Given the description of an element on the screen output the (x, y) to click on. 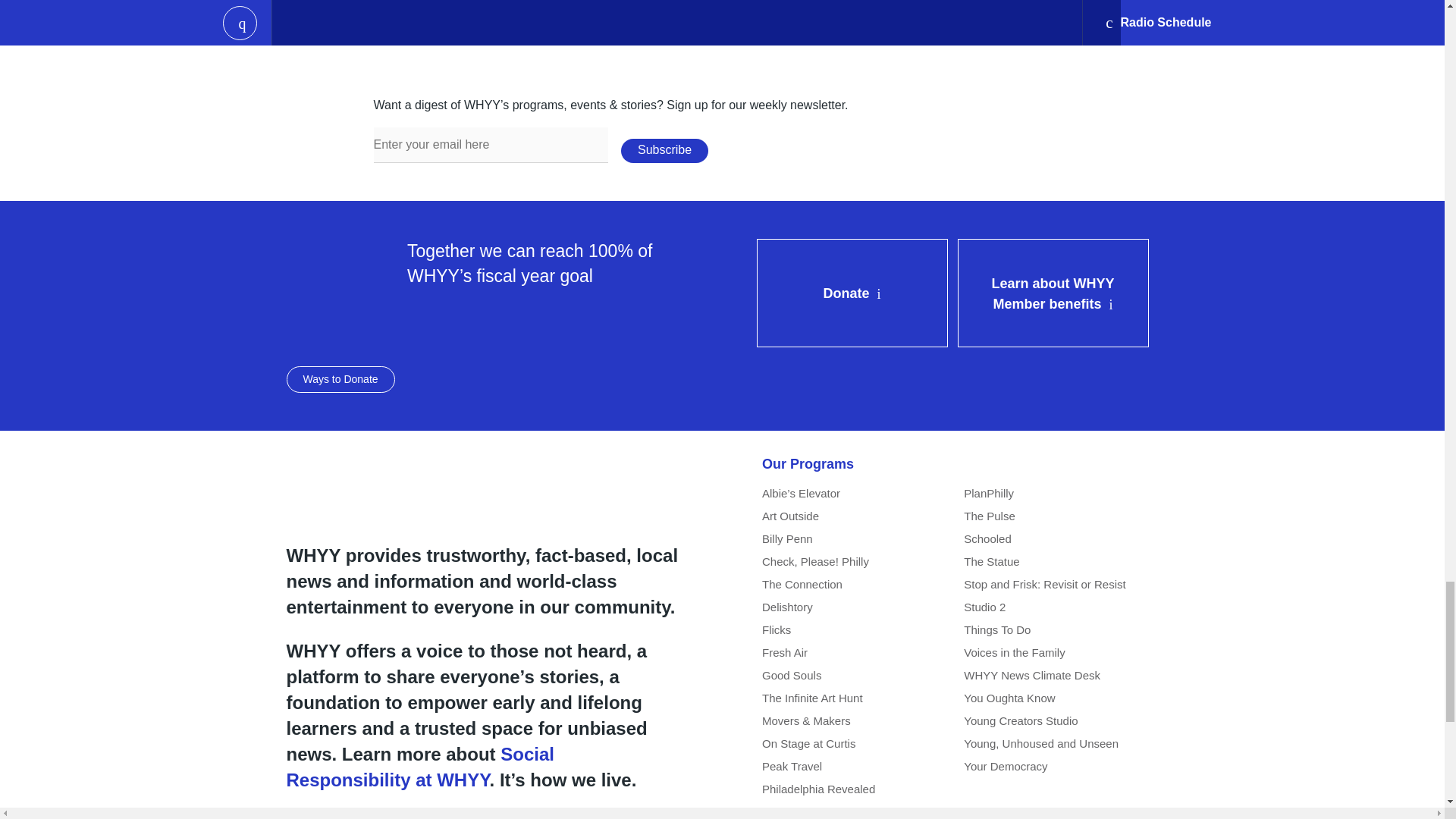
Subscribe (664, 150)
